Given the description of an element on the screen output the (x, y) to click on. 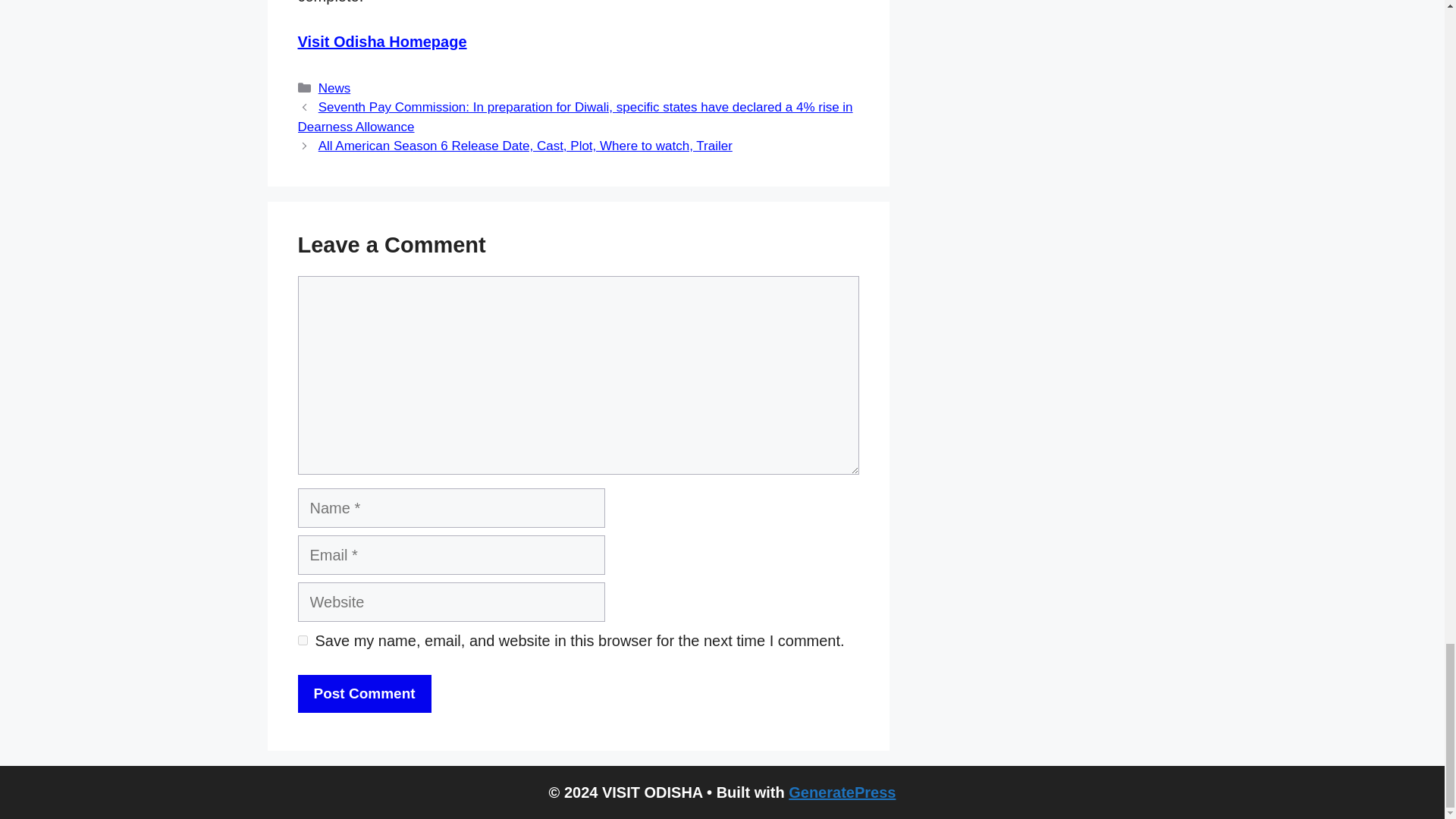
Post Comment (363, 693)
Post Comment (363, 693)
yes (302, 640)
News (334, 88)
Visit Odisha Homepage (381, 41)
